Given the description of an element on the screen output the (x, y) to click on. 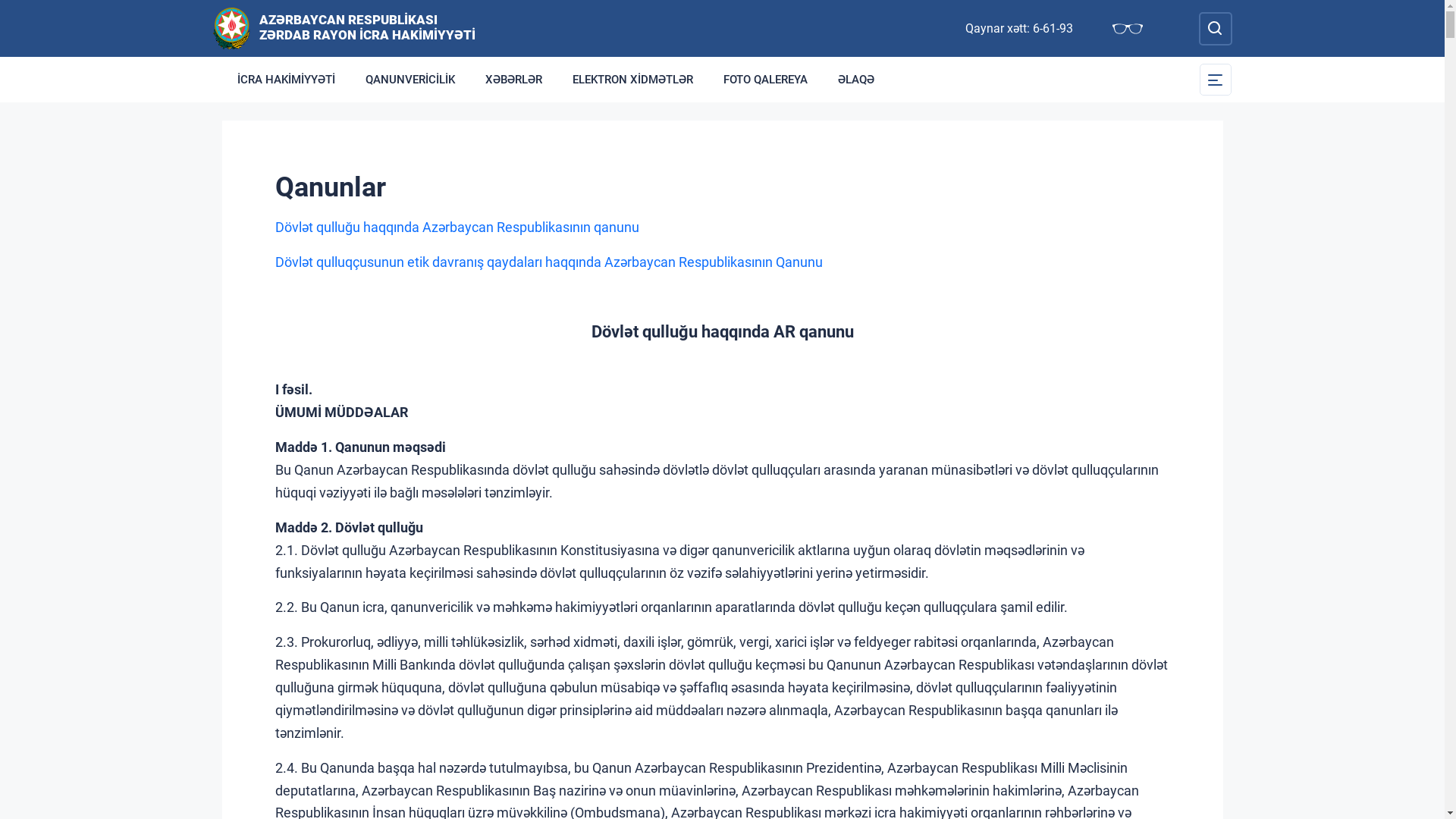
QANUNVERICILIK Element type: text (410, 79)
FOTO QALEREYA Element type: text (765, 79)
